Given the description of an element on the screen output the (x, y) to click on. 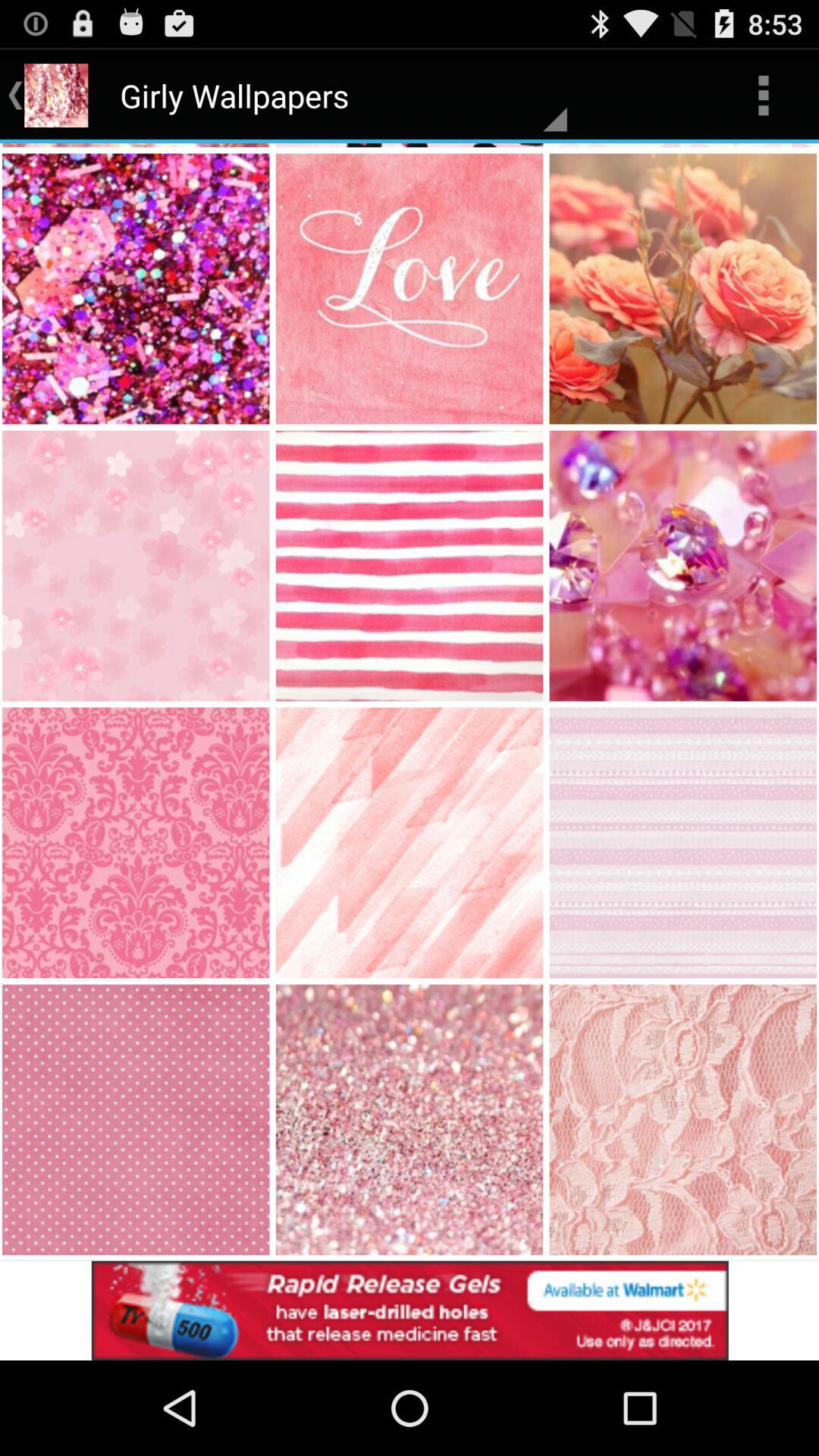
advertisement (409, 1310)
